Given the description of an element on the screen output the (x, y) to click on. 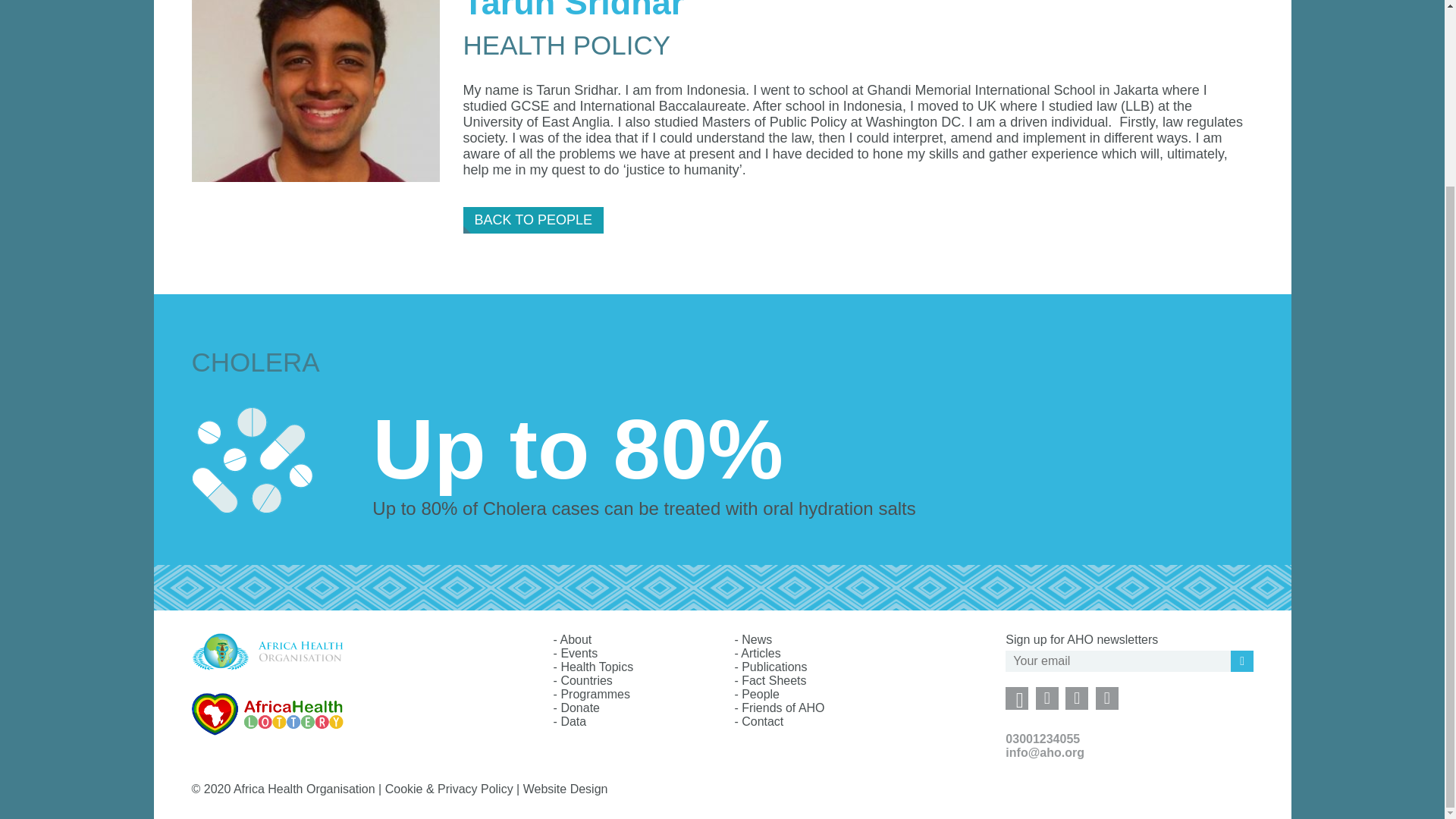
Countries (585, 680)
Programmes (595, 694)
About (575, 639)
BACK TO PEOPLE (533, 220)
Health Topics (596, 666)
Events (578, 653)
